Given the description of an element on the screen output the (x, y) to click on. 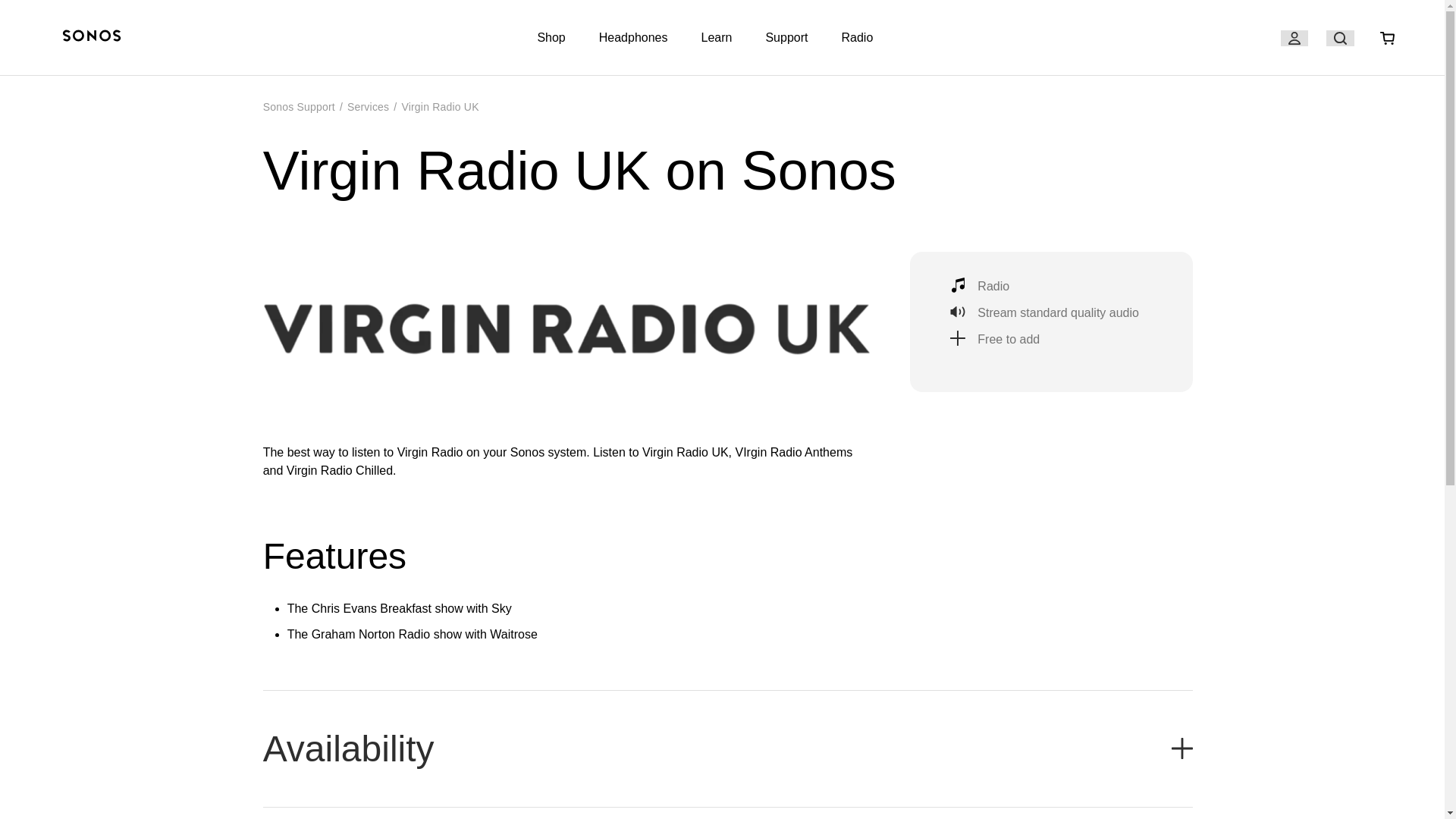
Sonos Support (298, 106)
Radio (857, 37)
Shop (550, 37)
Basket (1387, 38)
Virgin Radio UK (440, 106)
Headphones (632, 37)
Services (367, 106)
Search (1340, 37)
My Account (1294, 37)
Support (785, 37)
Basket (1387, 37)
My Account (1294, 38)
Search (1339, 38)
Learn (716, 37)
